Given the description of an element on the screen output the (x, y) to click on. 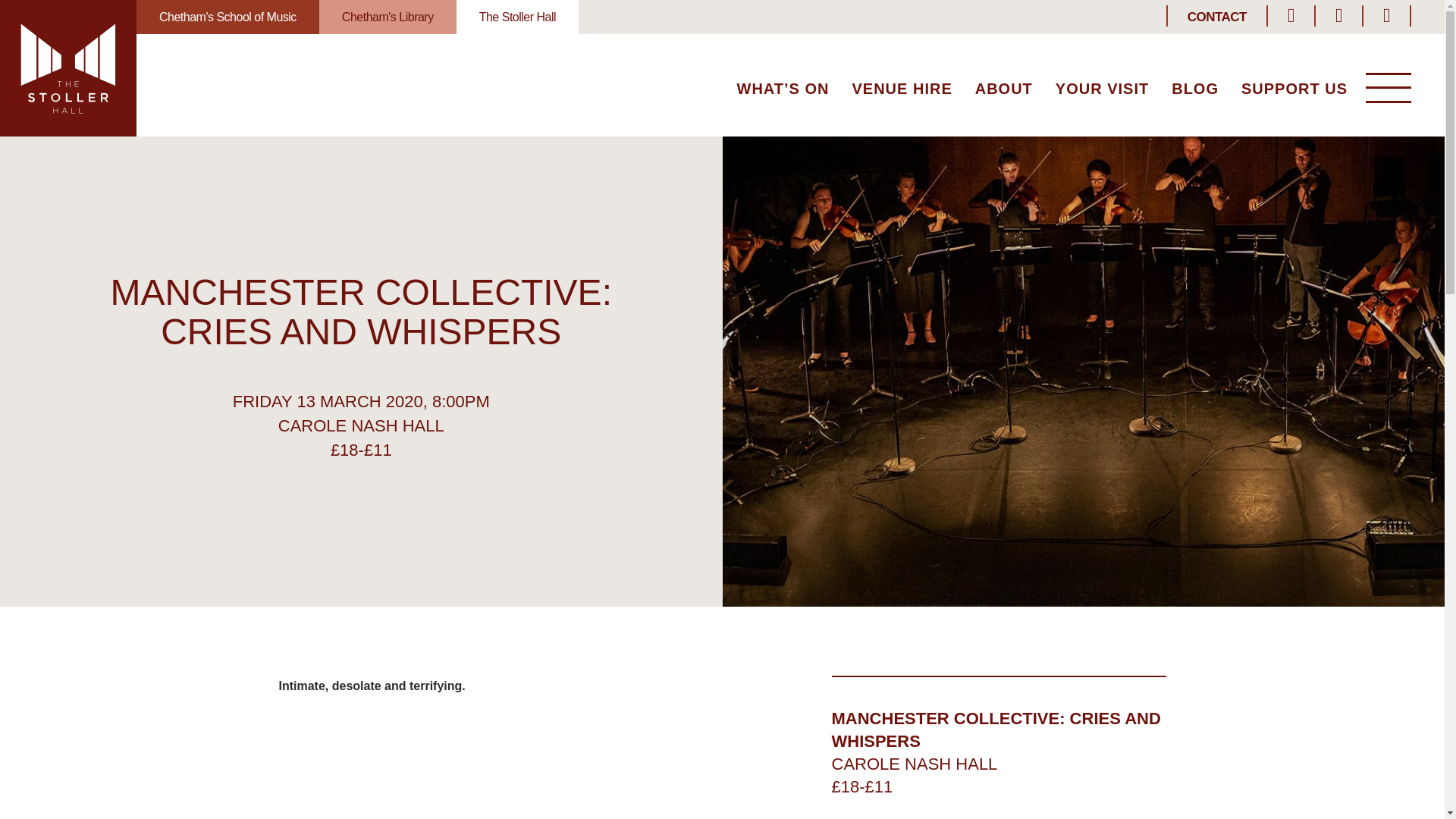
CONTACT (1217, 16)
VENUE HIRE (901, 90)
We Are Manchester Collective (495, 770)
YOUR VISIT (1101, 90)
THE STOLLER HALL (68, 68)
ABOUT (1003, 90)
Chetham's School of Music (227, 16)
Chetham's Library (387, 16)
The Stoller Hall (517, 16)
